Given the description of an element on the screen output the (x, y) to click on. 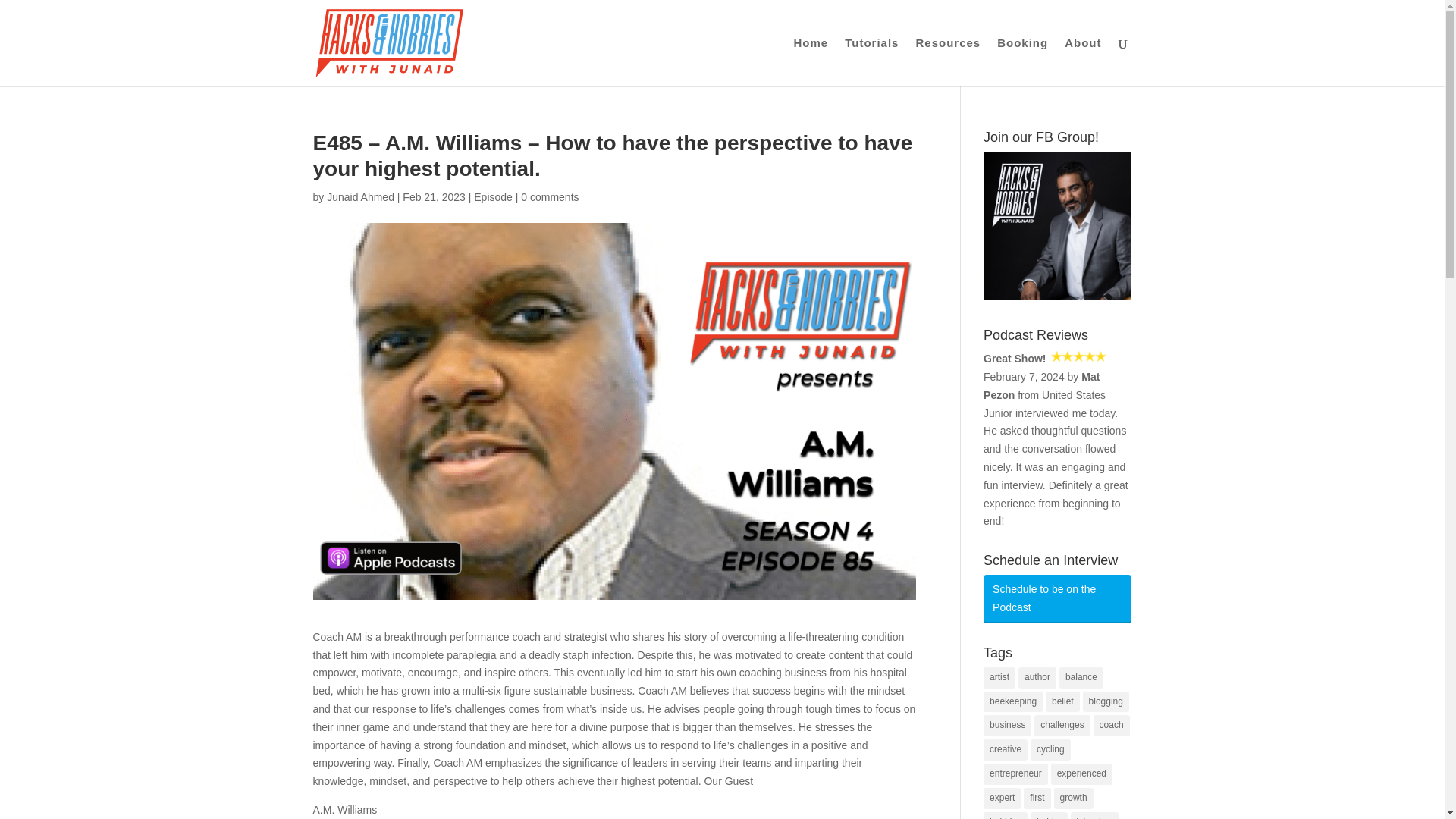
artist (999, 677)
blogging (1106, 701)
author (1037, 677)
Booking (1022, 61)
beekeeping (1013, 701)
Resources (947, 61)
Episode (493, 196)
0 comments (549, 196)
balance (1081, 677)
belief (1062, 701)
Tutorials (871, 61)
Posts by Junaid Ahmed (360, 196)
Junaid Ahmed (360, 196)
Schedule to be on the Podcast (1057, 598)
business (1007, 725)
